Given the description of an element on the screen output the (x, y) to click on. 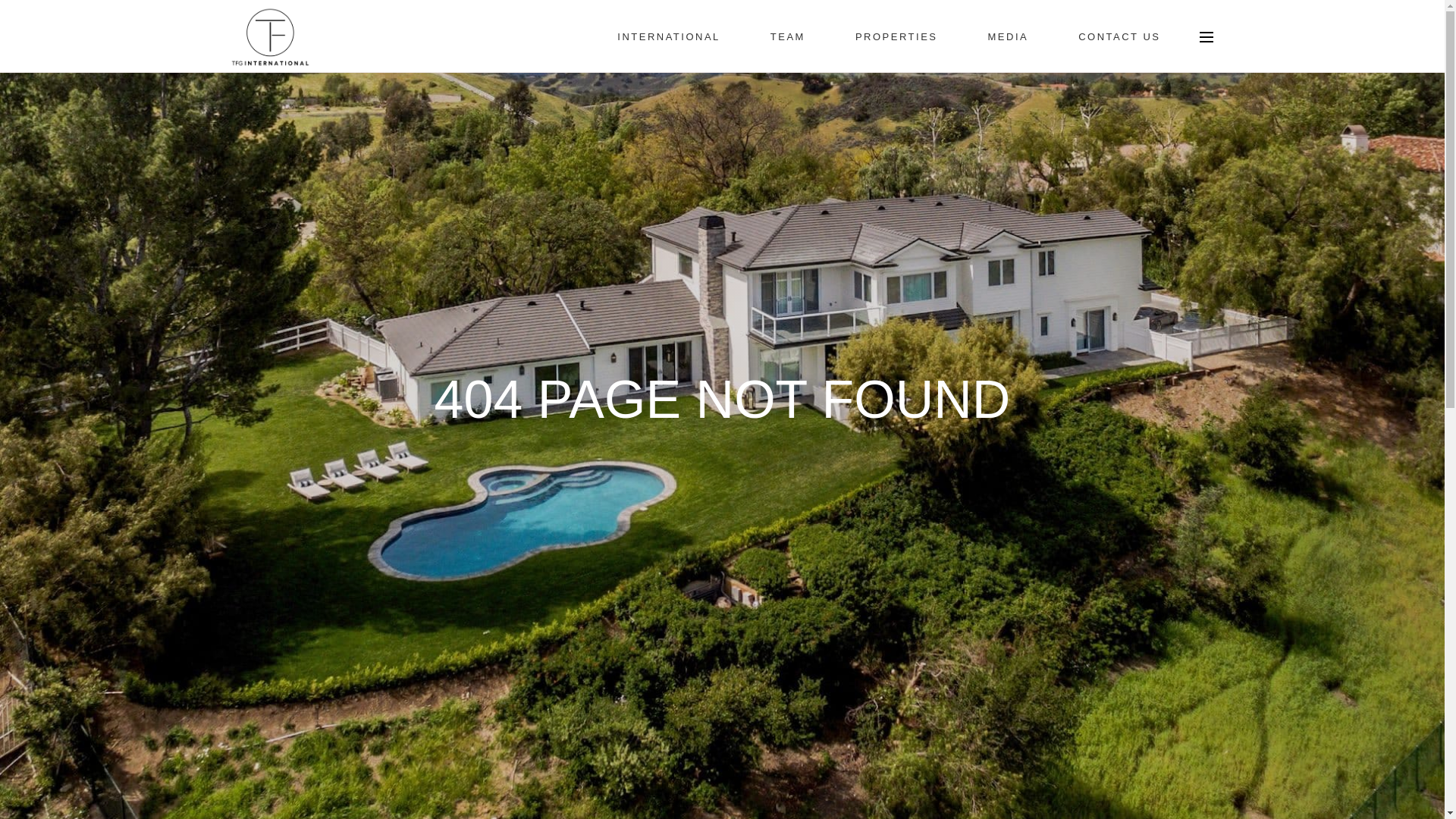
INTERNATIONAL (668, 36)
TEAM (787, 36)
CONTACT US (1119, 36)
